Given the description of an element on the screen output the (x, y) to click on. 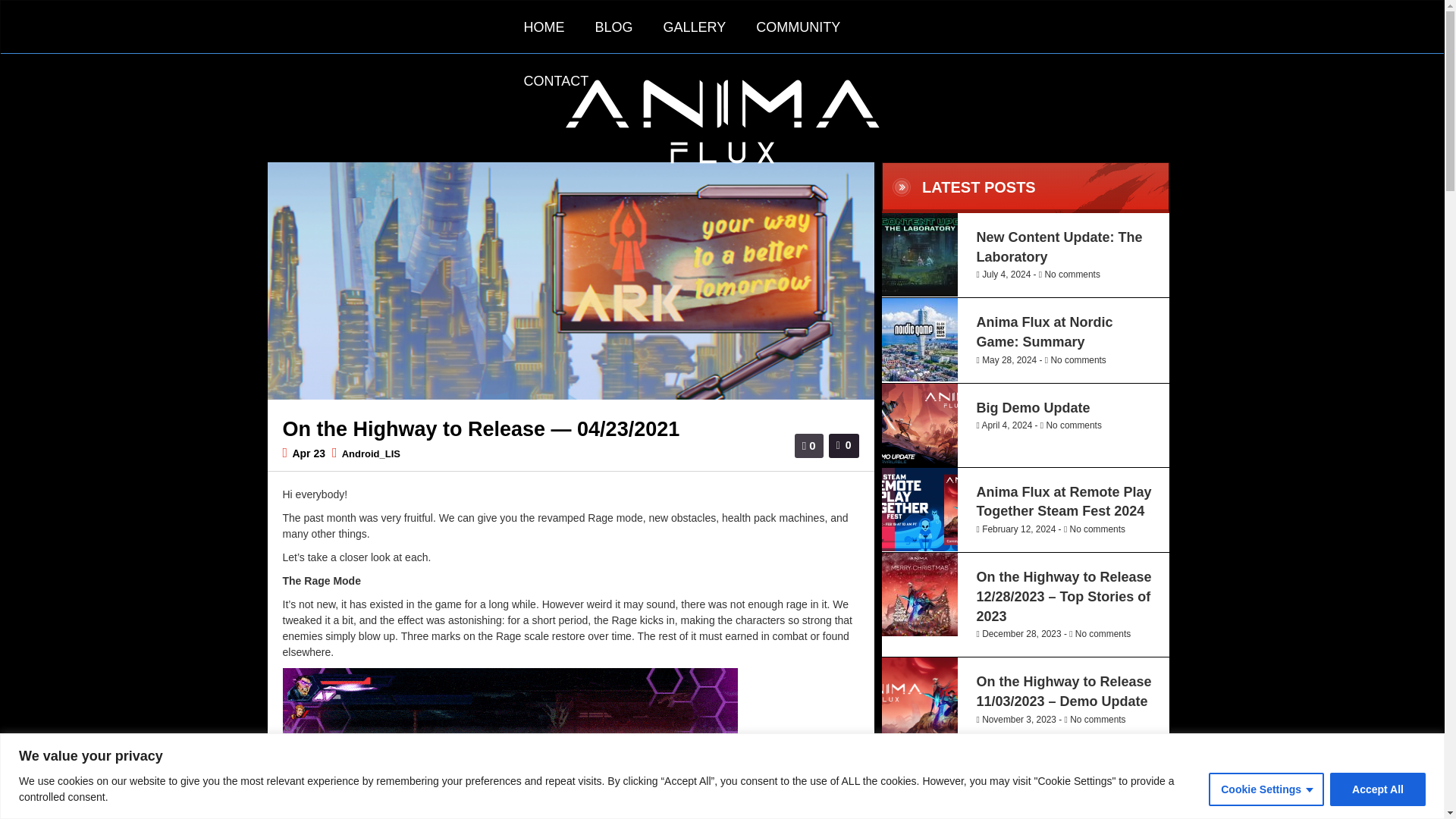
HOME (543, 27)
Accept All (1377, 788)
COMMUNITY (798, 27)
BLOG (613, 27)
New Content Update: The Laboratory (1059, 247)
Cookie Settings (1265, 788)
CONTACT (556, 81)
GALLERY (694, 27)
Anima Flux at Nordic Game: Summary (1044, 331)
0 (851, 435)
